Given the description of an element on the screen output the (x, y) to click on. 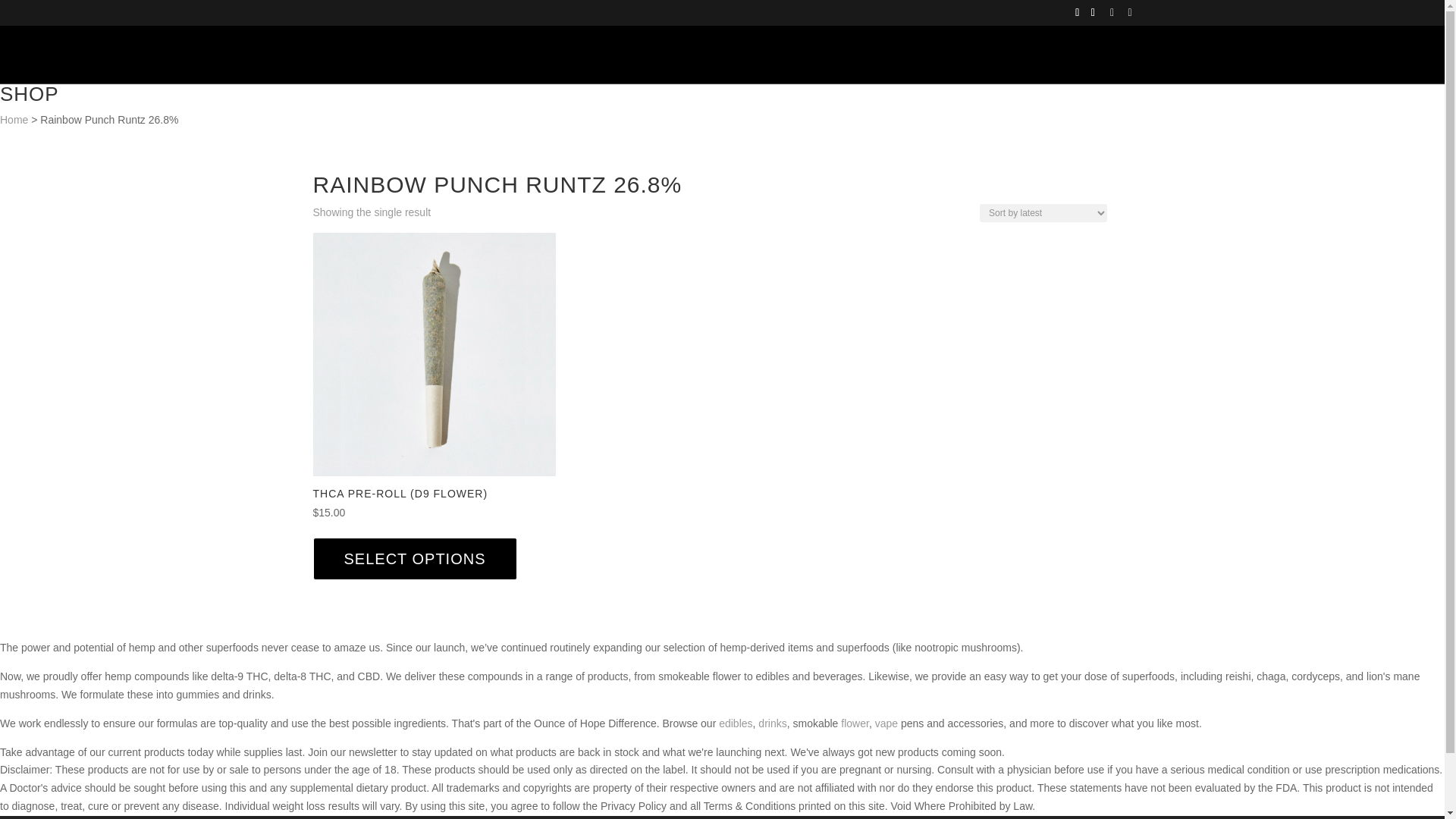
SHOP (638, 65)
OUR STORY (549, 65)
NEWS (708, 65)
BLOG (769, 65)
ABOUT (462, 65)
